Given the description of an element on the screen output the (x, y) to click on. 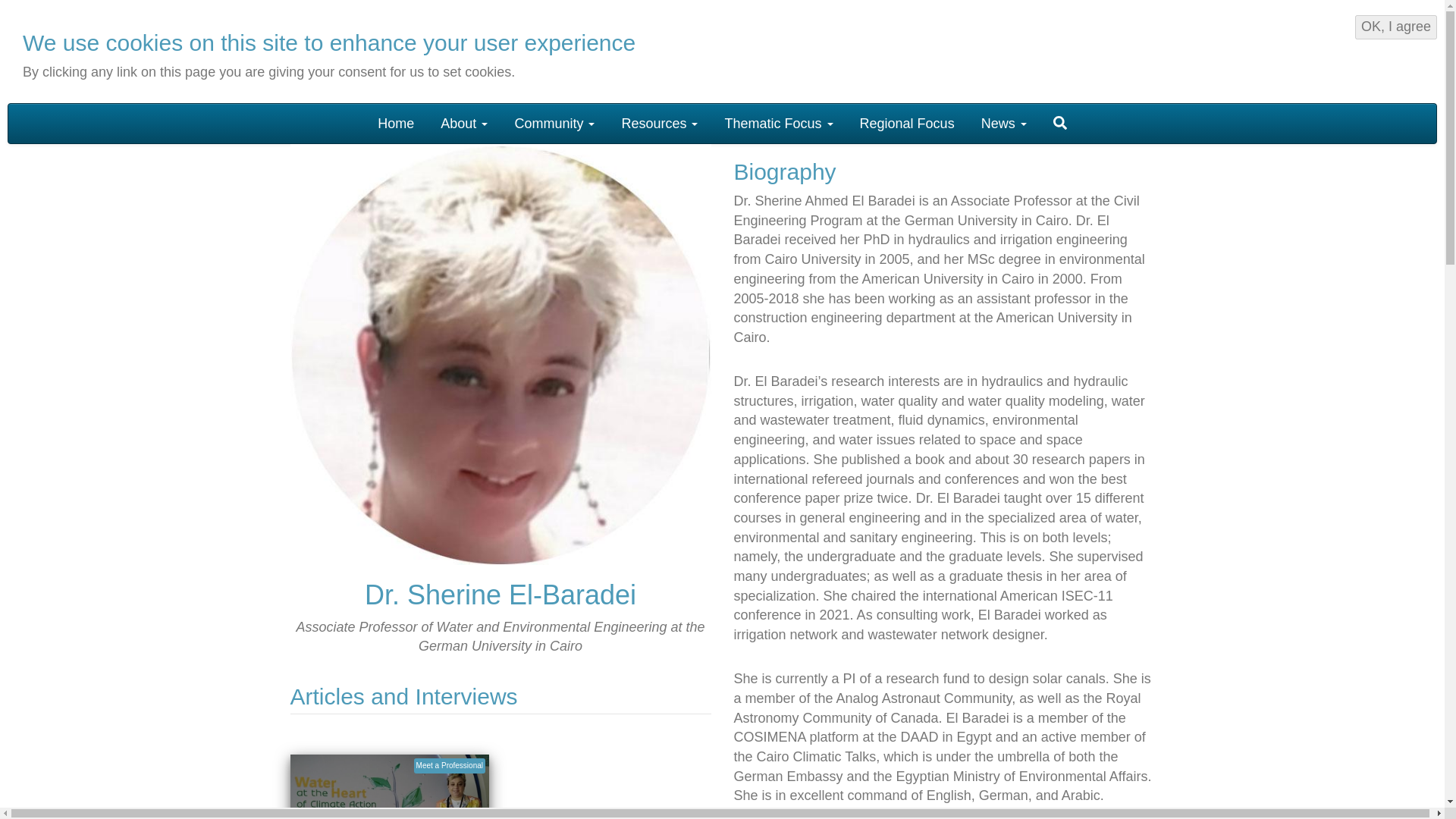
United Nations Office for Outer Space Affairs (1150, 48)
News (1003, 123)
Thematic Focus (778, 123)
Prince Sultan Bin Abdulaziz International Price for Water (1342, 48)
Resources (659, 123)
About (464, 123)
Community (553, 123)
Home (116, 53)
OK, I agree (1396, 27)
Regional Focus (907, 123)
Home (395, 123)
